Given the description of an element on the screen output the (x, y) to click on. 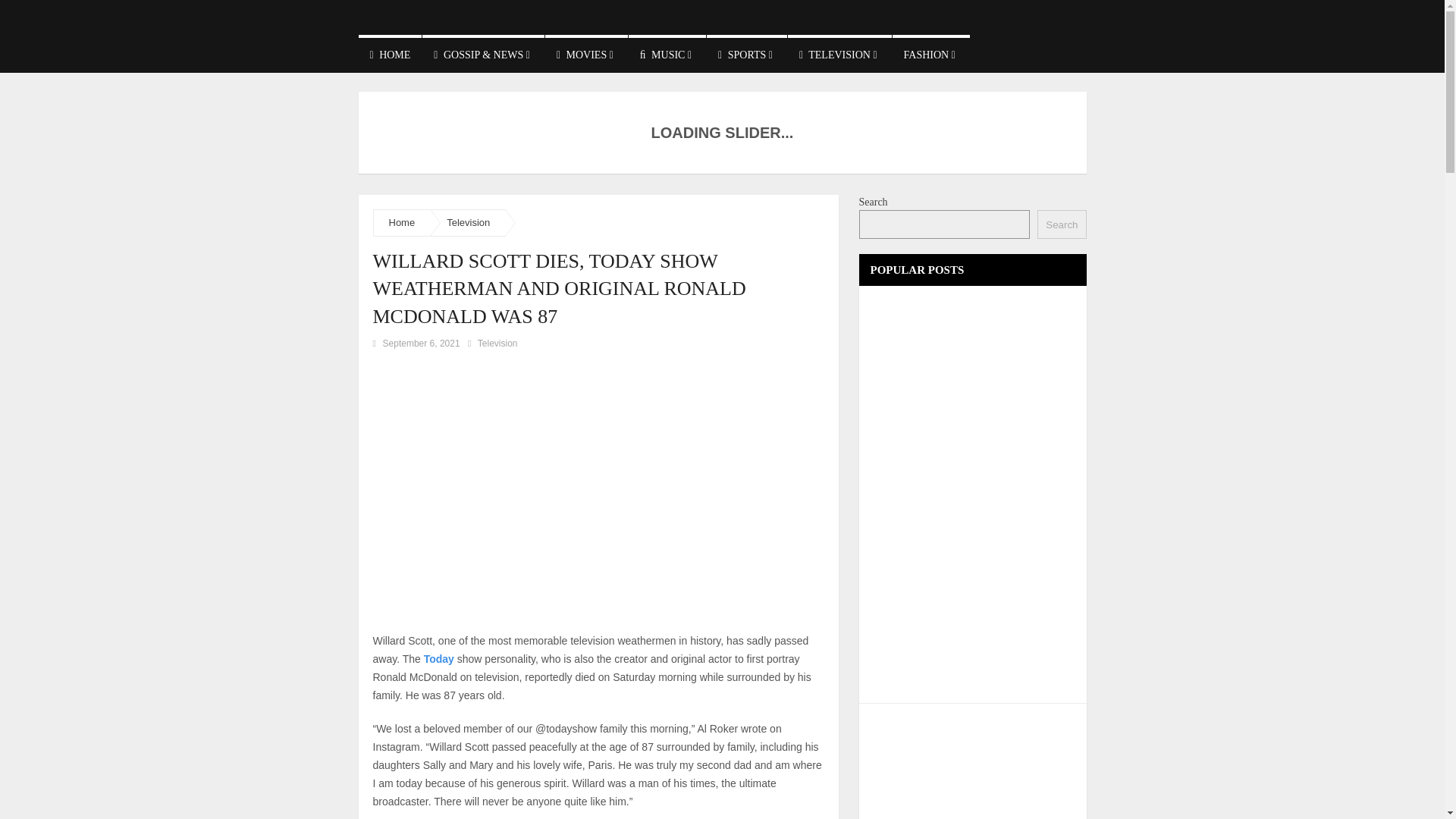
Television (467, 222)
Home (401, 222)
TELEVISION (839, 53)
FASHION (930, 53)
Television (497, 343)
HOME (390, 53)
Today (438, 658)
MOVIES (585, 53)
SPORTS (746, 53)
MUSIC (667, 53)
